Given the description of an element on the screen output the (x, y) to click on. 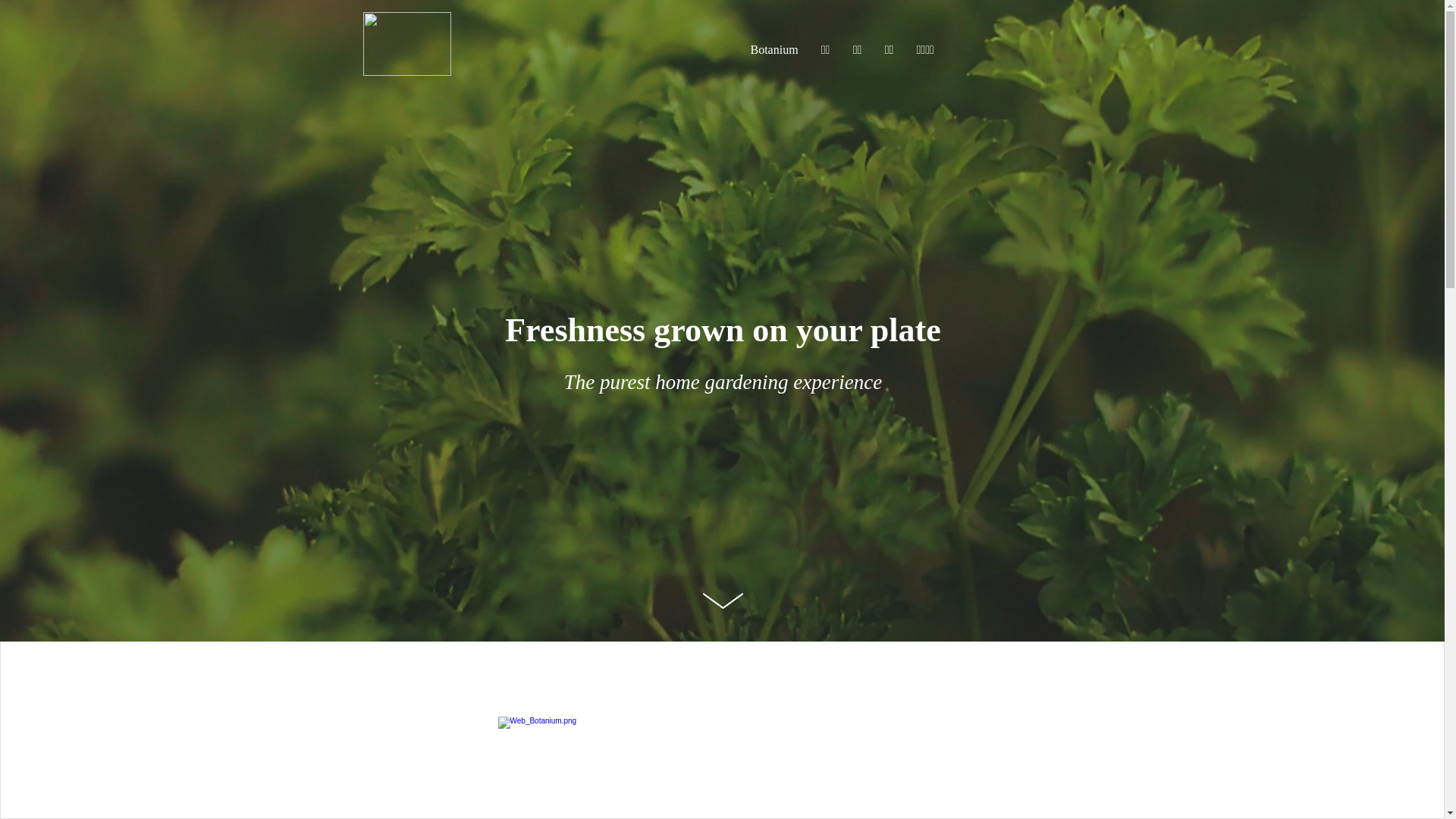
Botanium Element type: text (773, 49)
